Given the description of an element on the screen output the (x, y) to click on. 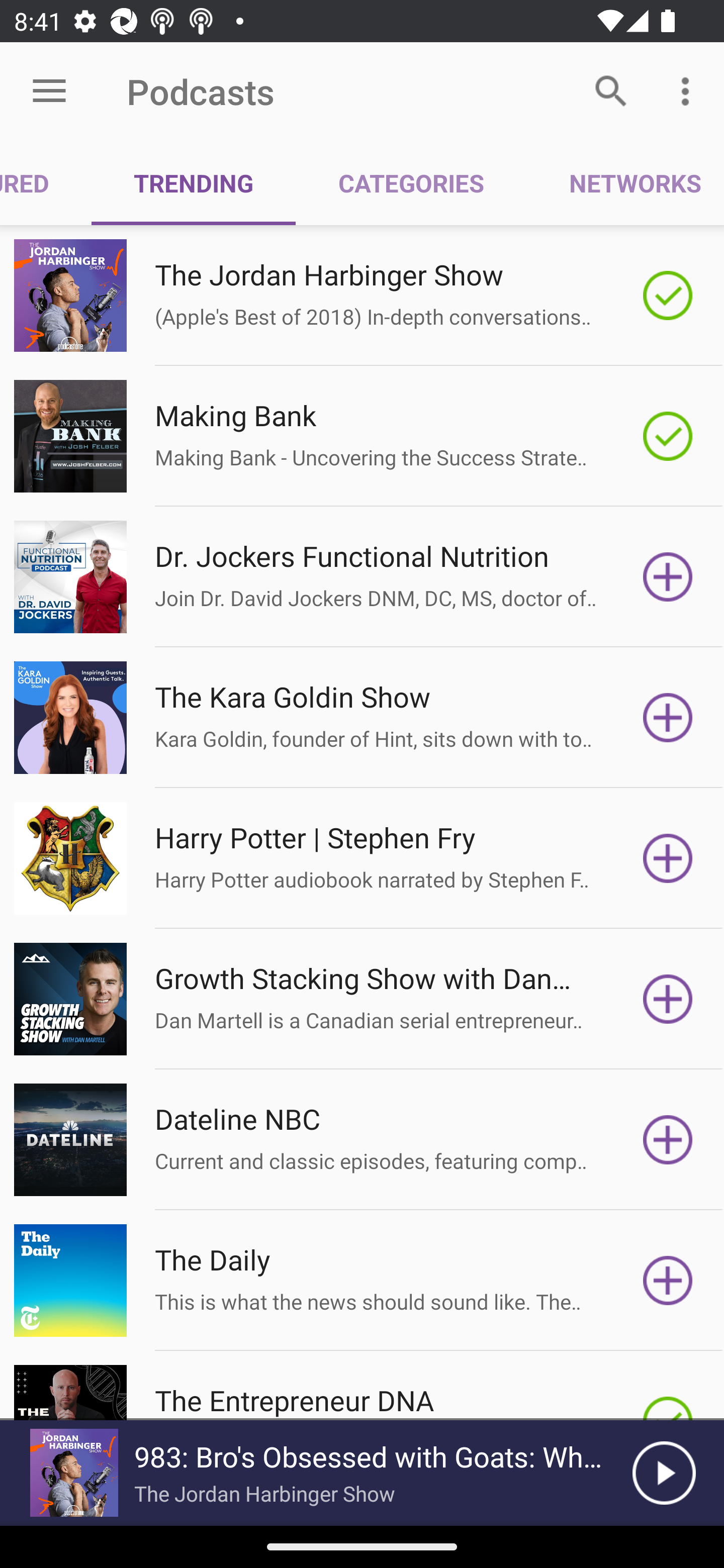
Open menu (49, 91)
Search (611, 90)
More options (688, 90)
TRENDING (193, 183)
CATEGORIES (410, 183)
NETWORKS (625, 183)
Subscribed (667, 295)
Subscribed (667, 435)
Subscribe (667, 576)
Subscribe (667, 717)
Subscribe (667, 858)
Subscribe (667, 998)
Subscribe (667, 1139)
Subscribe (667, 1280)
Play (663, 1472)
